Given the description of an element on the screen output the (x, y) to click on. 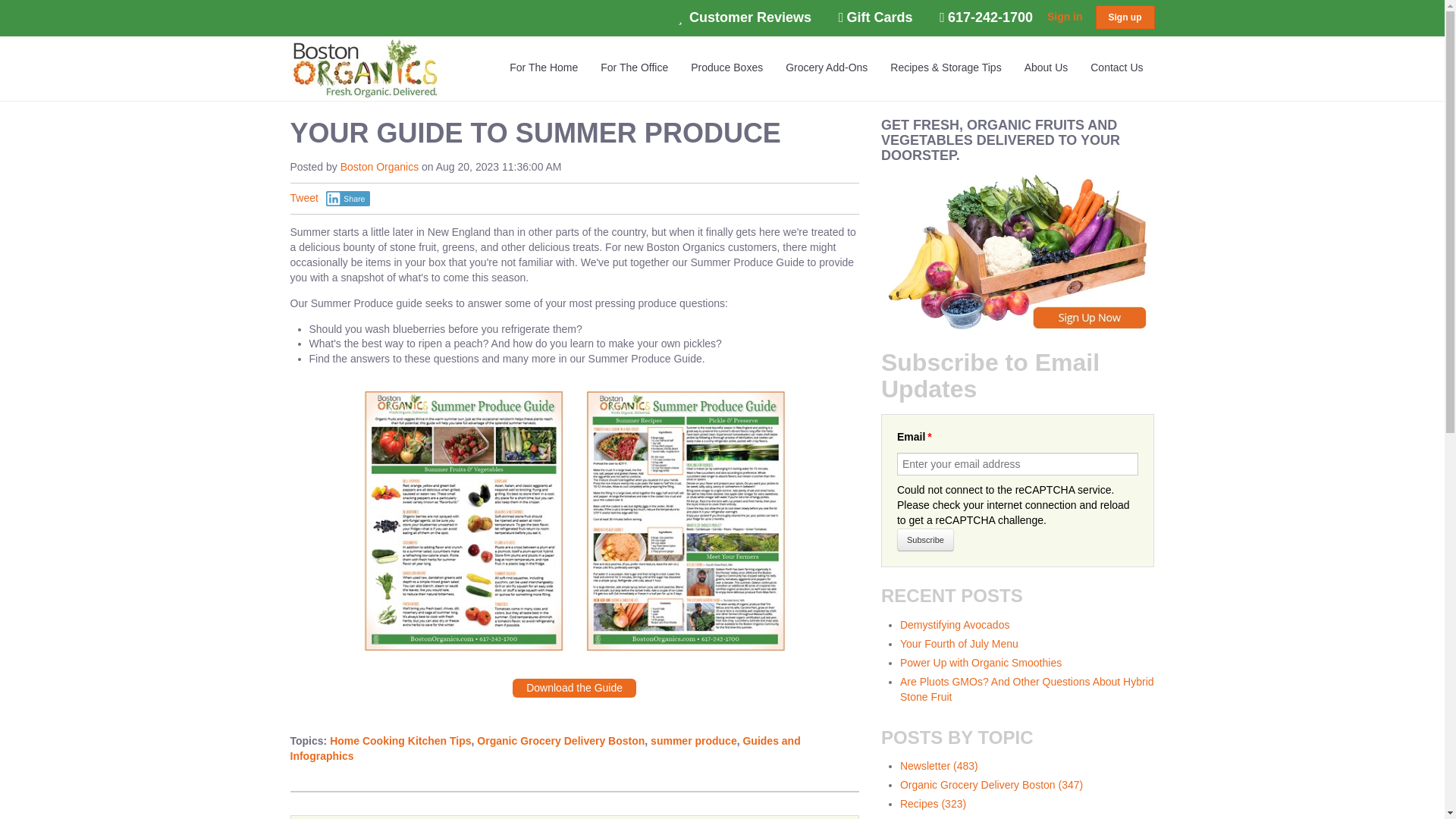
Contact Us (1116, 66)
Home Cooking Kitchen Tips (400, 740)
Share (348, 198)
Subscribe (924, 539)
Boston Organics (364, 67)
Guides and Infographics (544, 748)
summer produce (693, 740)
Customer Reviews (744, 17)
For The Home (543, 66)
Sign up (1124, 16)
Demystifying Avocados (954, 624)
Grocery Add-Ons (826, 66)
Sign in (1064, 16)
For The Office (634, 66)
Gift Cards (875, 17)
